Given the description of an element on the screen output the (x, y) to click on. 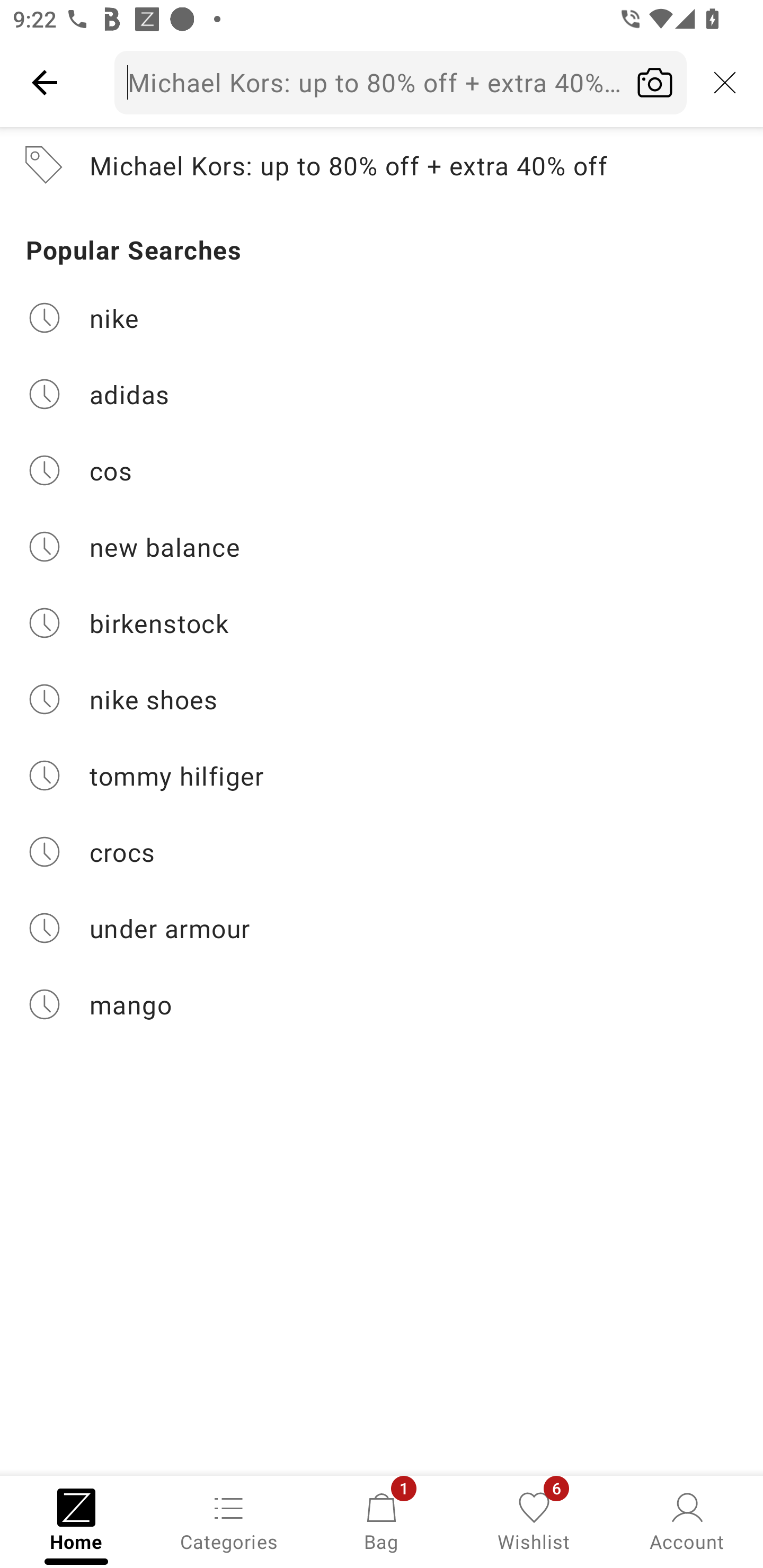
Navigate up (44, 82)
Michael Kors: up to 80% off + extra 40% off (400, 82)
Michael Kors: up to 80% off + extra 40% off (381, 165)
Sort (126, 240)
nike (381, 317)
adidas (381, 393)
cos (381, 470)
new balance (381, 546)
birkenstock (381, 622)
nike shoes (381, 698)
tommy hilfiger (381, 774)
crocs (381, 851)
under armour (381, 927)
mango (381, 1003)
Categories (228, 1519)
Bag, 1 new notification Bag (381, 1519)
Wishlist, 6 new notifications Wishlist (533, 1519)
Account (686, 1519)
